Given the description of an element on the screen output the (x, y) to click on. 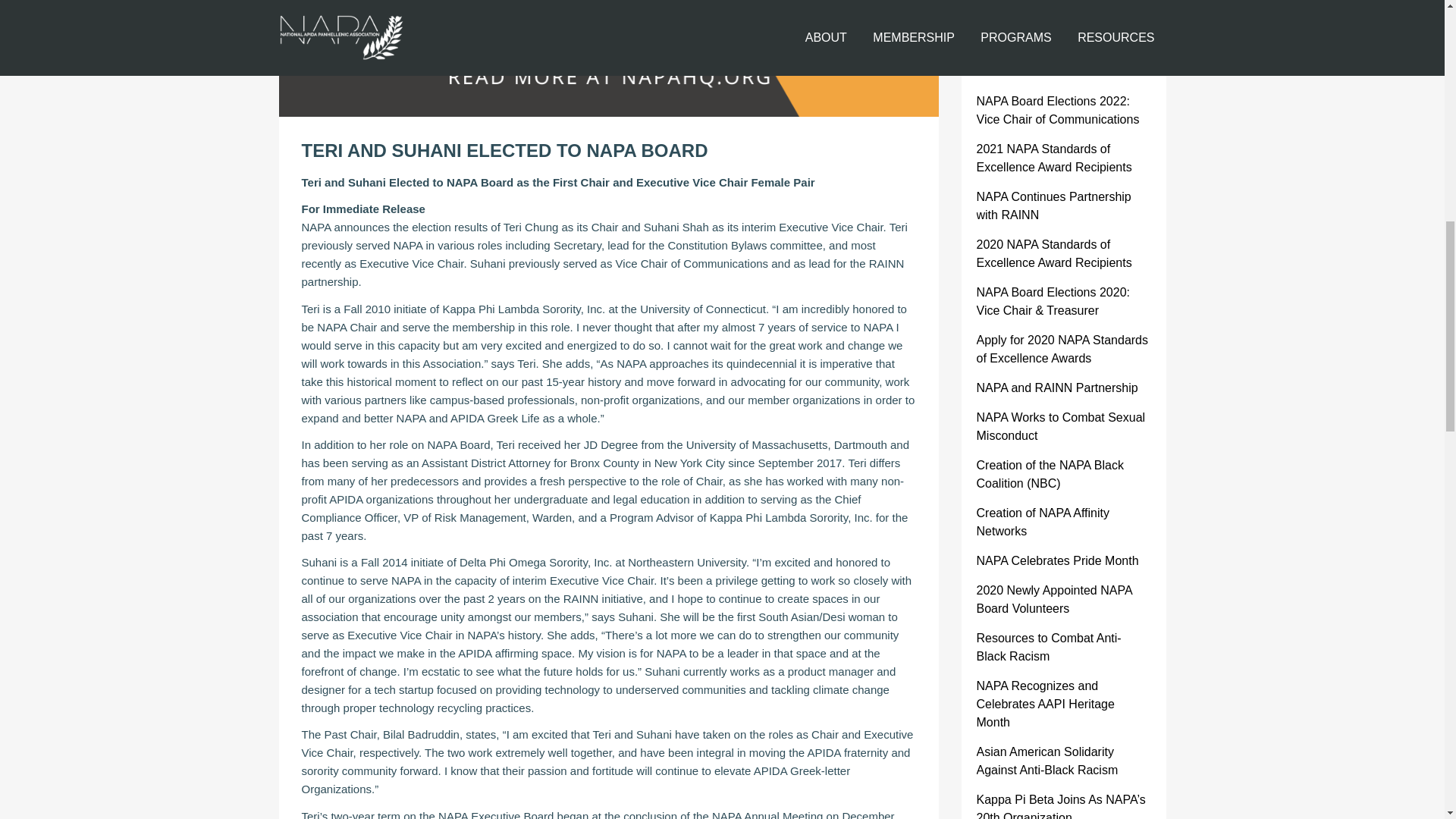
NAPA Board 2022: Seeking Volunteers (1050, 61)
NAPA Board Elections 2022: Vice Chair of Communications (1058, 110)
Teri and Suhani Elected to NAPA Board (1047, 15)
